Given the description of an element on the screen output the (x, y) to click on. 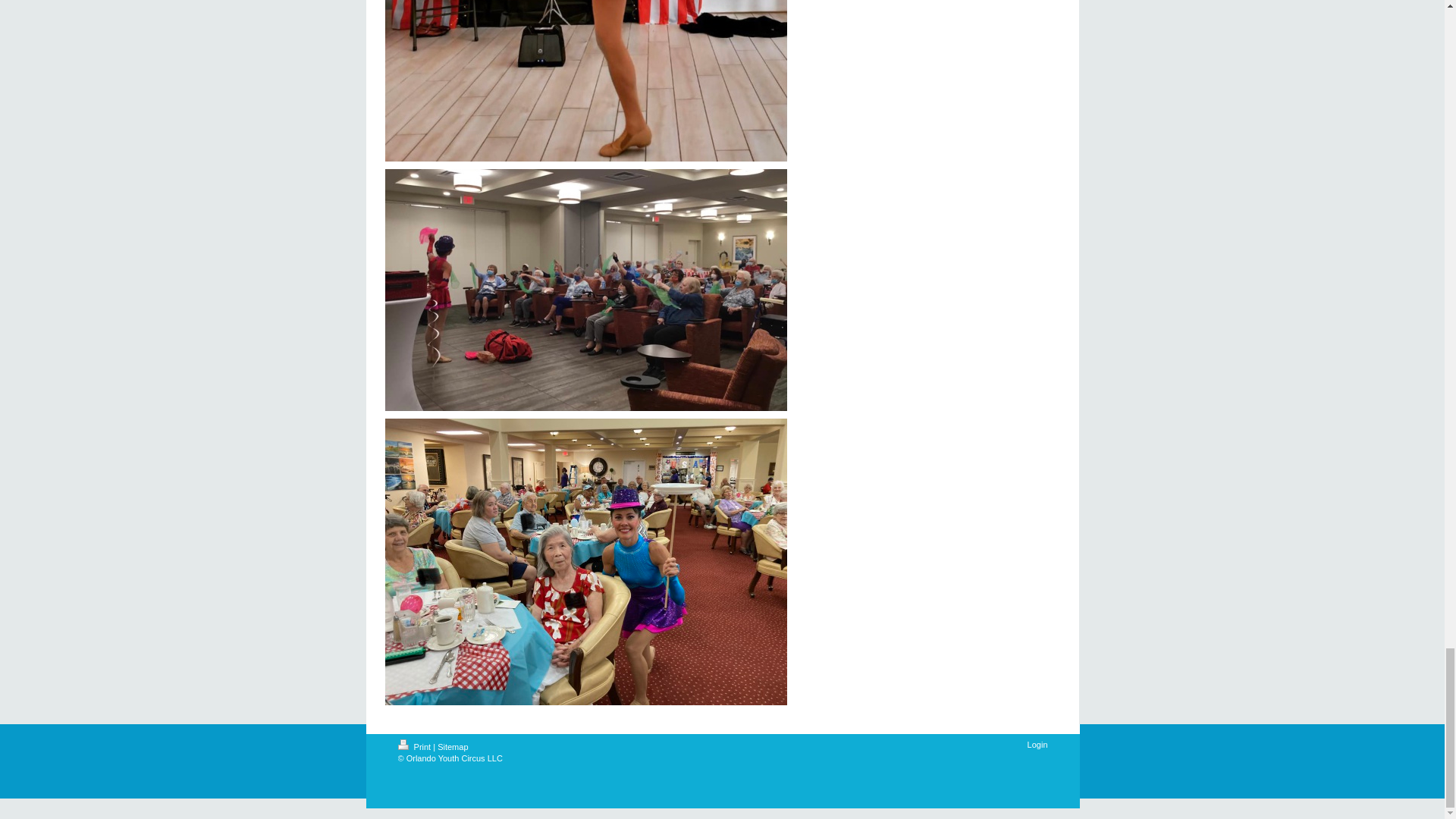
Login (1037, 744)
Sitemap (452, 746)
Print (414, 746)
